Given the description of an element on the screen output the (x, y) to click on. 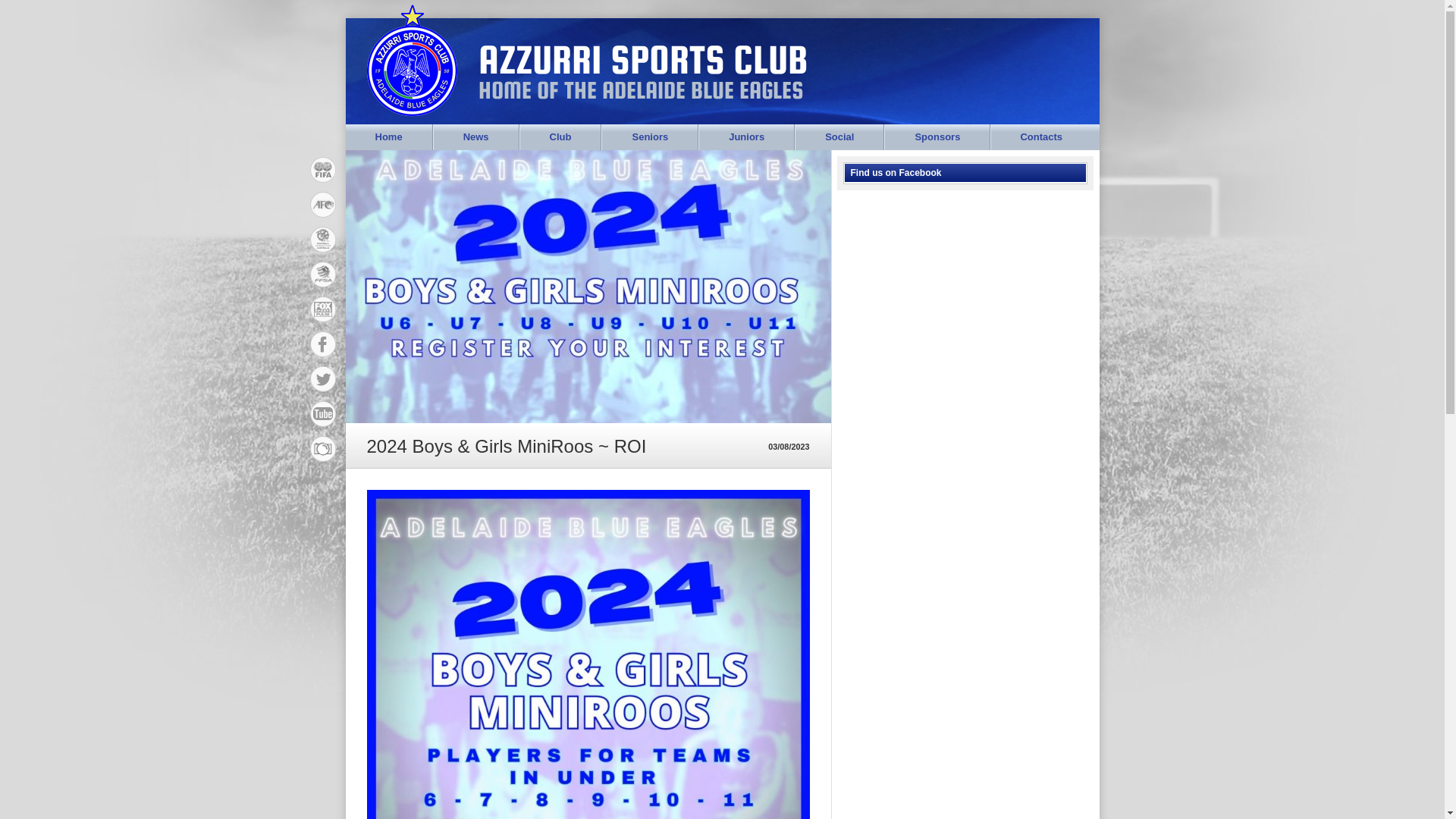
Vimeo Element type: text (322, 413)
Club Element type: text (560, 137)
YouTube Element type: text (322, 448)
Pinterest Element type: text (322, 239)
News Element type: text (475, 137)
Contacts Element type: text (1041, 137)
Seniors Element type: text (649, 137)
Facebook Element type: text (322, 343)
Home Element type: text (388, 137)
Sponsors Element type: text (936, 137)
HOME OF THE ADELAIDE BLUE EAGLES Element type: text (634, 89)
2024 Boys & Girls MiniRoos ~ ROI Element type: hover (588, 286)
Twitter Element type: text (322, 378)
AZZURRI SPORTS CLUB Element type: text (636, 59)
Google+ Element type: text (322, 309)
LinkedIn Element type: text (322, 274)
Social Element type: text (839, 137)
Facebook Element type: text (322, 169)
Juniors Element type: text (746, 137)
Twitter Element type: text (322, 204)
